Given the description of an element on the screen output the (x, y) to click on. 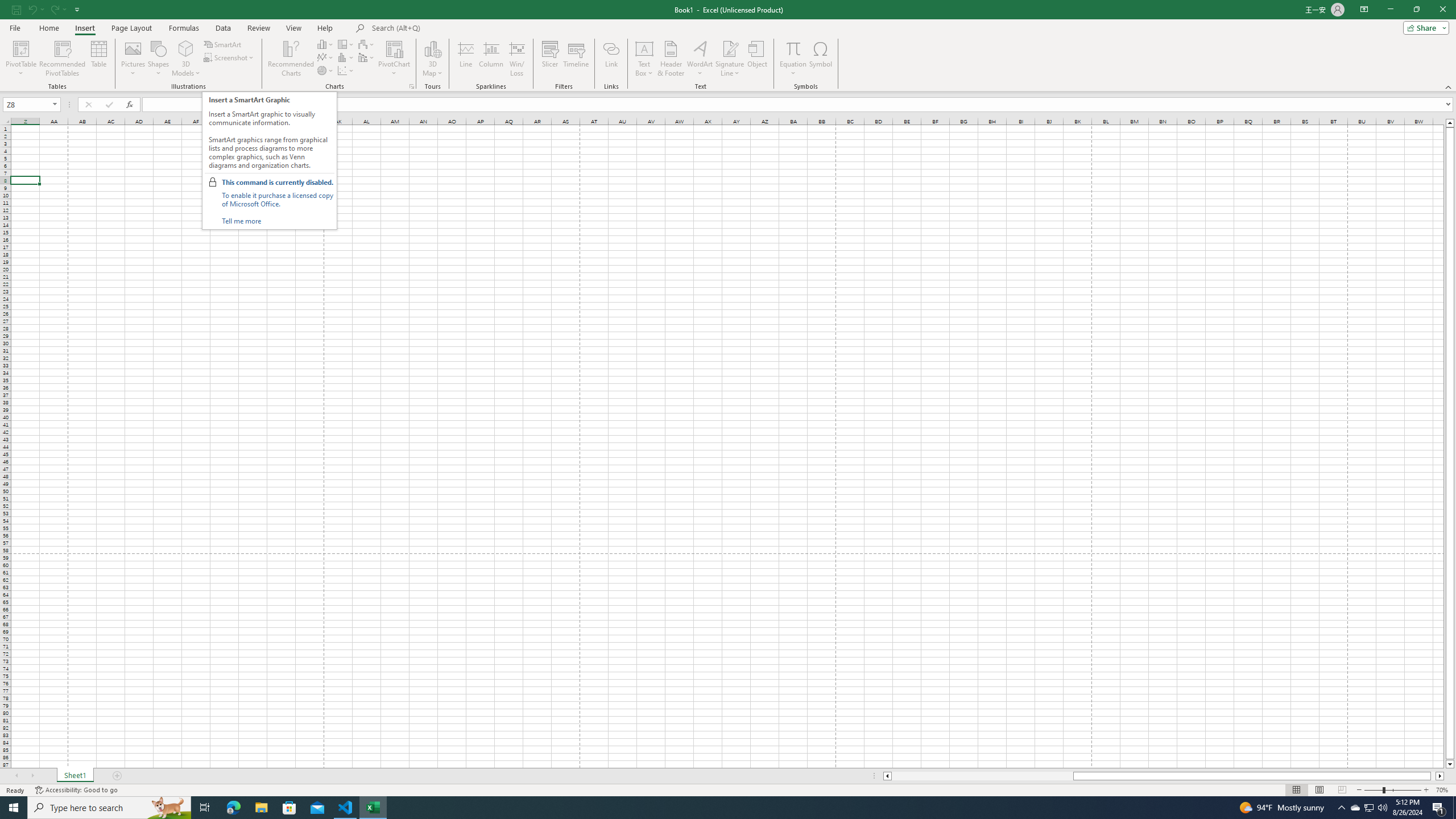
Pictures (133, 58)
Redo (57, 9)
Screenshot (229, 56)
Help (325, 28)
3D Map (432, 48)
Page Layout (1318, 790)
Insert Line or Area Chart (325, 56)
Page right (1433, 775)
Restore Down (1416, 9)
Minimize (1390, 9)
Formula Bar (798, 104)
Save (16, 9)
System (6, 6)
Recommended PivotTables (62, 58)
Ribbon Display Options (1364, 9)
